Given the description of an element on the screen output the (x, y) to click on. 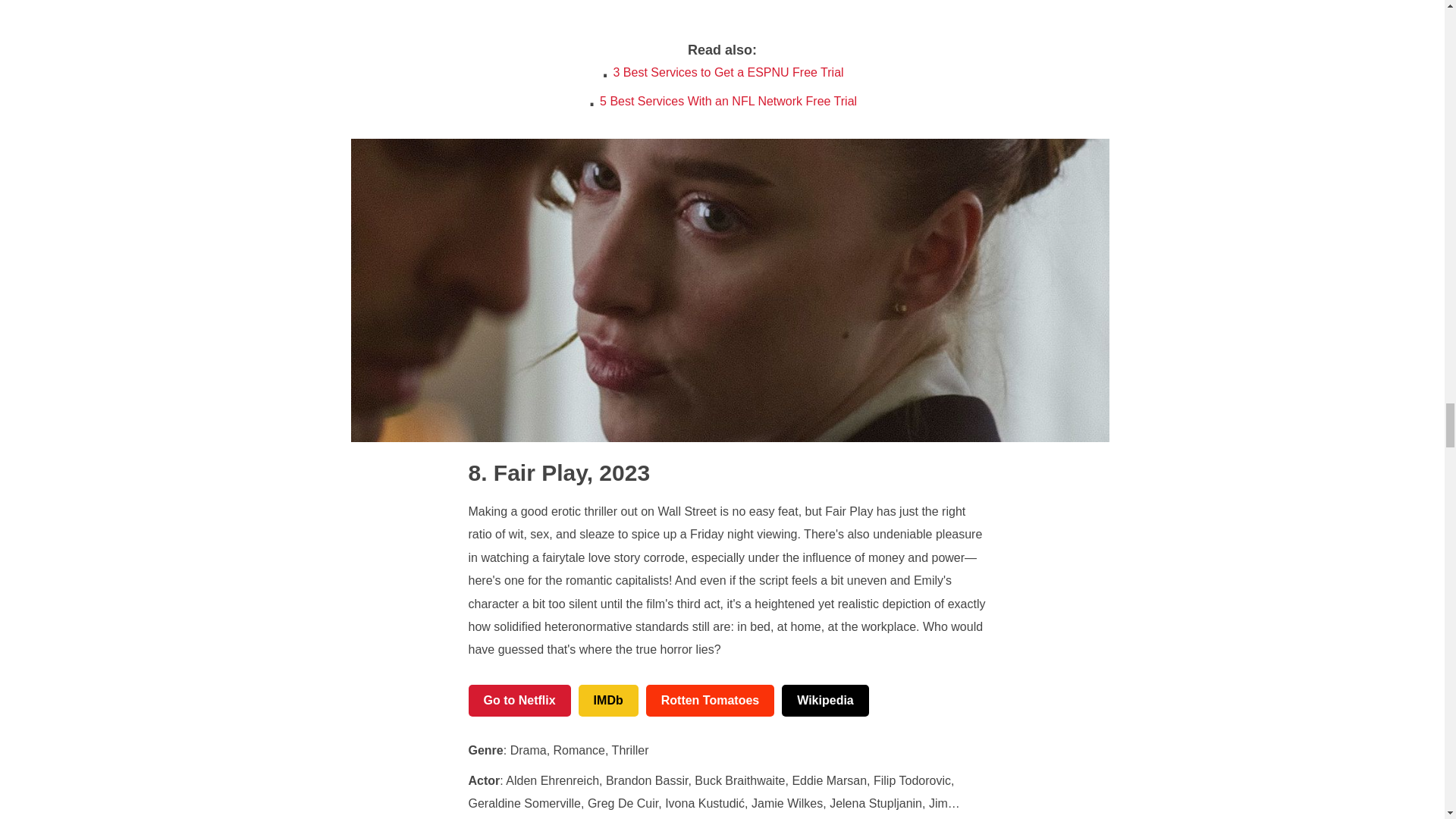
Fair Play (527, 472)
